Given the description of an element on the screen output the (x, y) to click on. 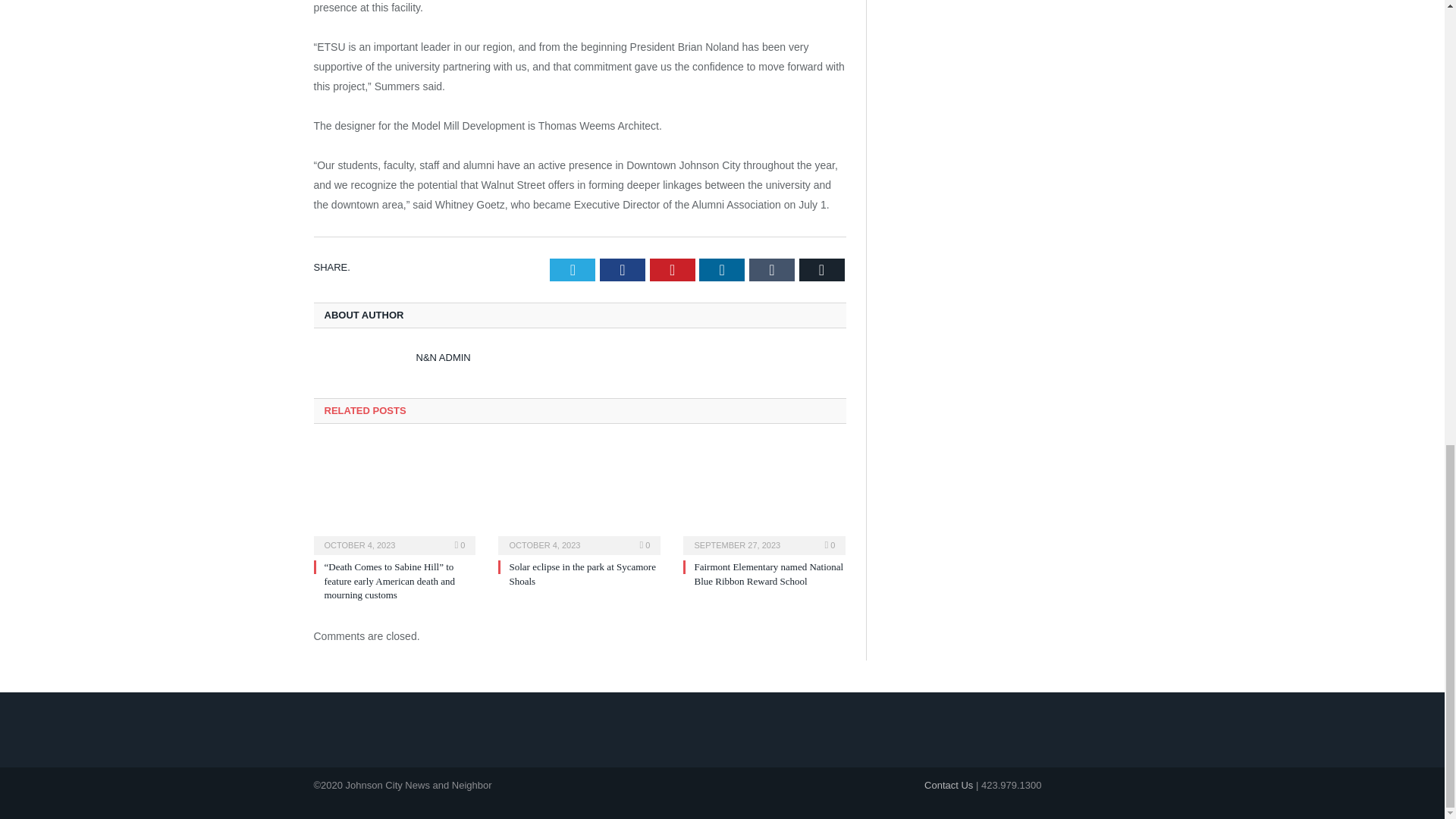
Share on Facebook (622, 269)
Email (821, 269)
Facebook (622, 269)
Tweet It (572, 269)
LinkedIn (721, 269)
Share on Pinterest (672, 269)
Solar eclipse in the park at Sycamore Shoals (579, 498)
Share via Email (821, 269)
Solar eclipse in the park at Sycamore Shoals (582, 573)
